Given the description of an element on the screen output the (x, y) to click on. 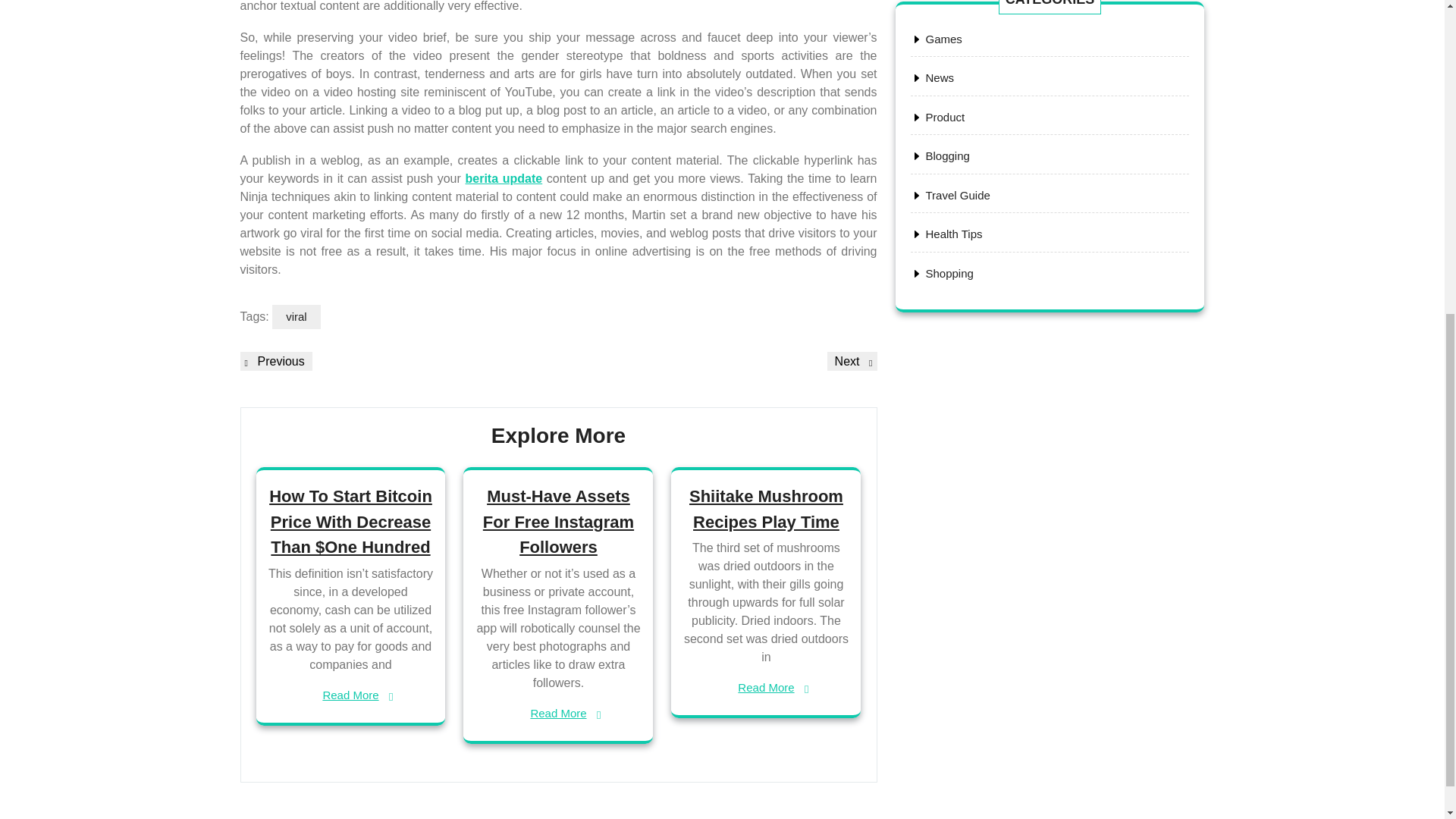
Travel Guide (957, 195)
berita update (504, 178)
Health Tips (952, 233)
Read More (765, 687)
Product (943, 116)
Must-Have Assets For Free Instagram Followers (558, 521)
Read More (557, 713)
News (938, 77)
Shiitake Mushroom Recipes Play Time (765, 508)
Shopping (852, 361)
Games (948, 273)
viral (942, 38)
Read More (275, 361)
